Given the description of an element on the screen output the (x, y) to click on. 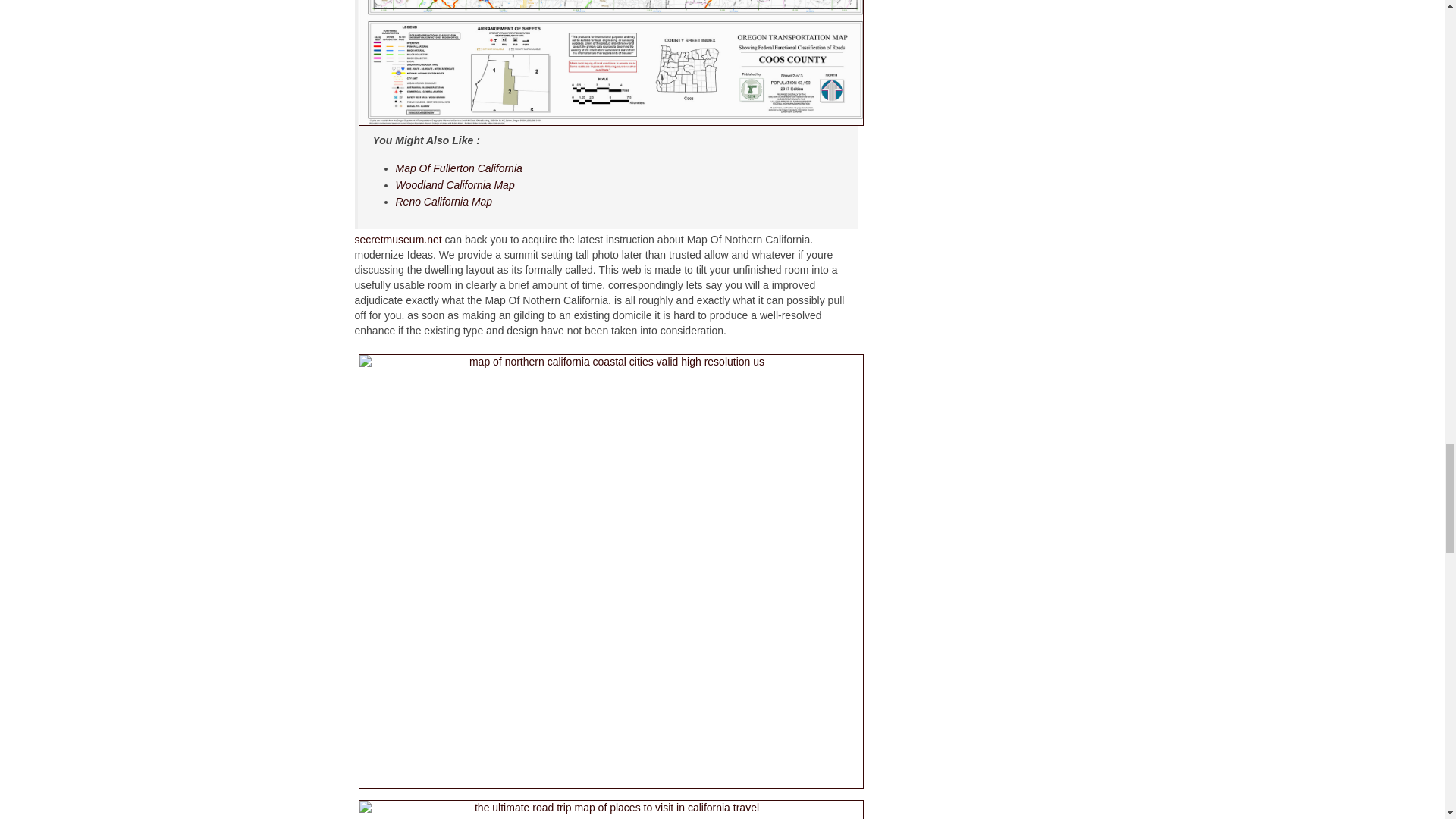
Reno California Map (444, 201)
Map Of Fullerton California (459, 168)
secretmuseum.net (398, 239)
Woodland California Map (455, 184)
